Given the description of an element on the screen output the (x, y) to click on. 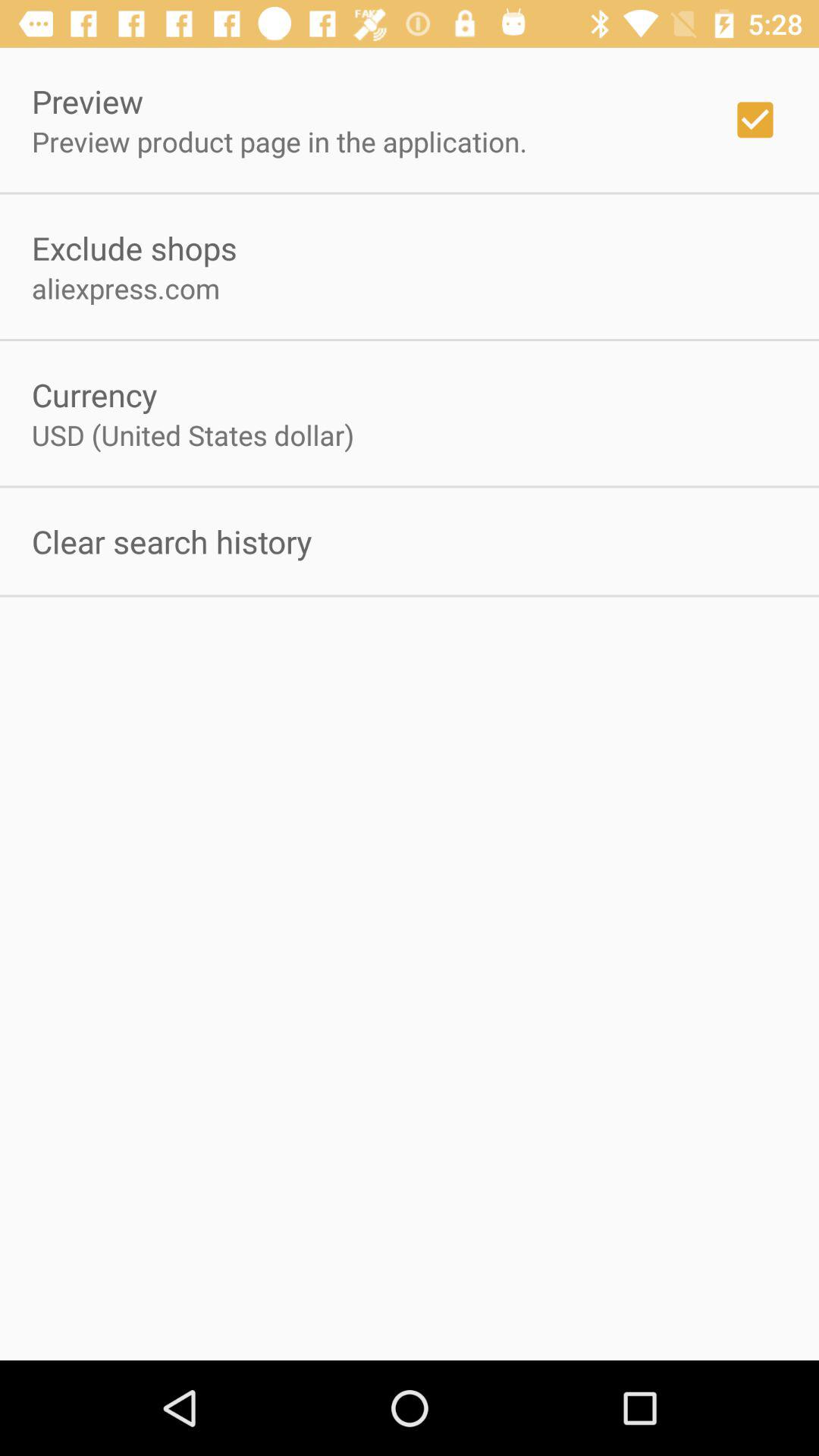
turn on item below the usd united states app (171, 541)
